Given the description of an element on the screen output the (x, y) to click on. 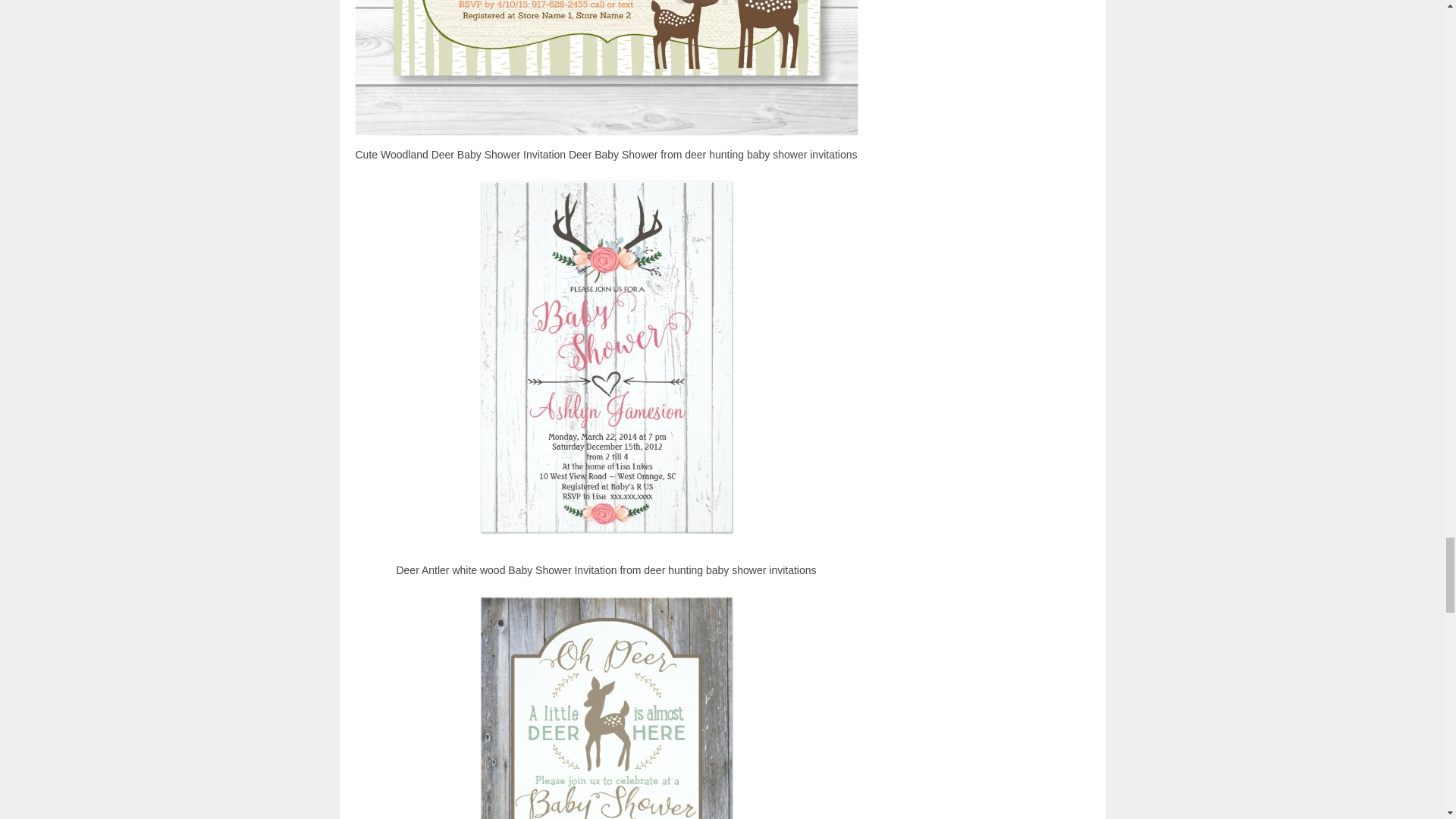
Dear little Deer baby shower invitation on wood (606, 698)
Cute Woodland Deer Baby Shower Invitation Deer Baby Shower (607, 68)
